Given the description of an element on the screen output the (x, y) to click on. 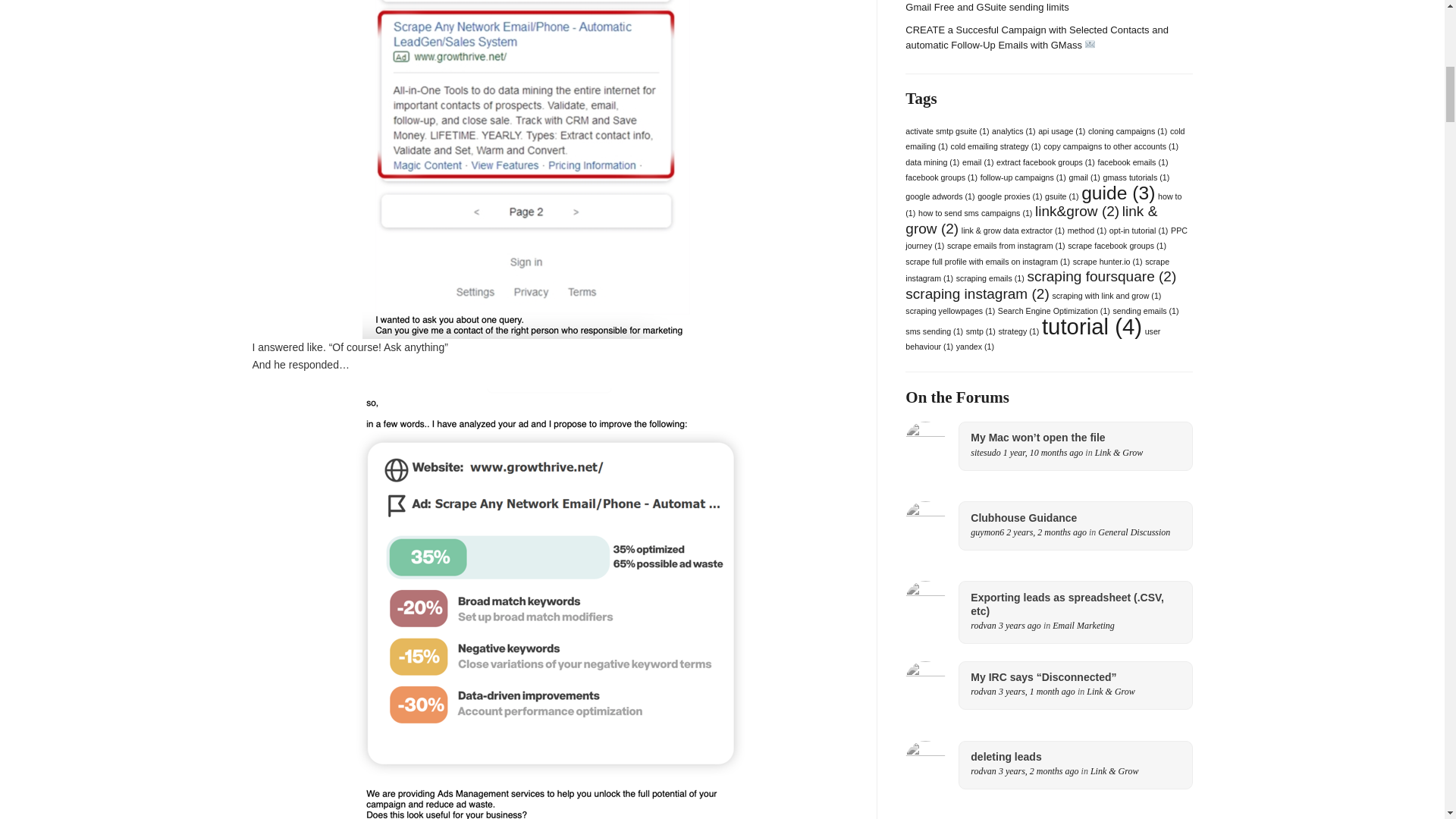
View guymon6's profile (987, 532)
Clubhouse Guidance (1075, 517)
Reply To: Clubhouse Guidance (1046, 532)
View sitesudo's profile (985, 452)
